Given the description of an element on the screen output the (x, y) to click on. 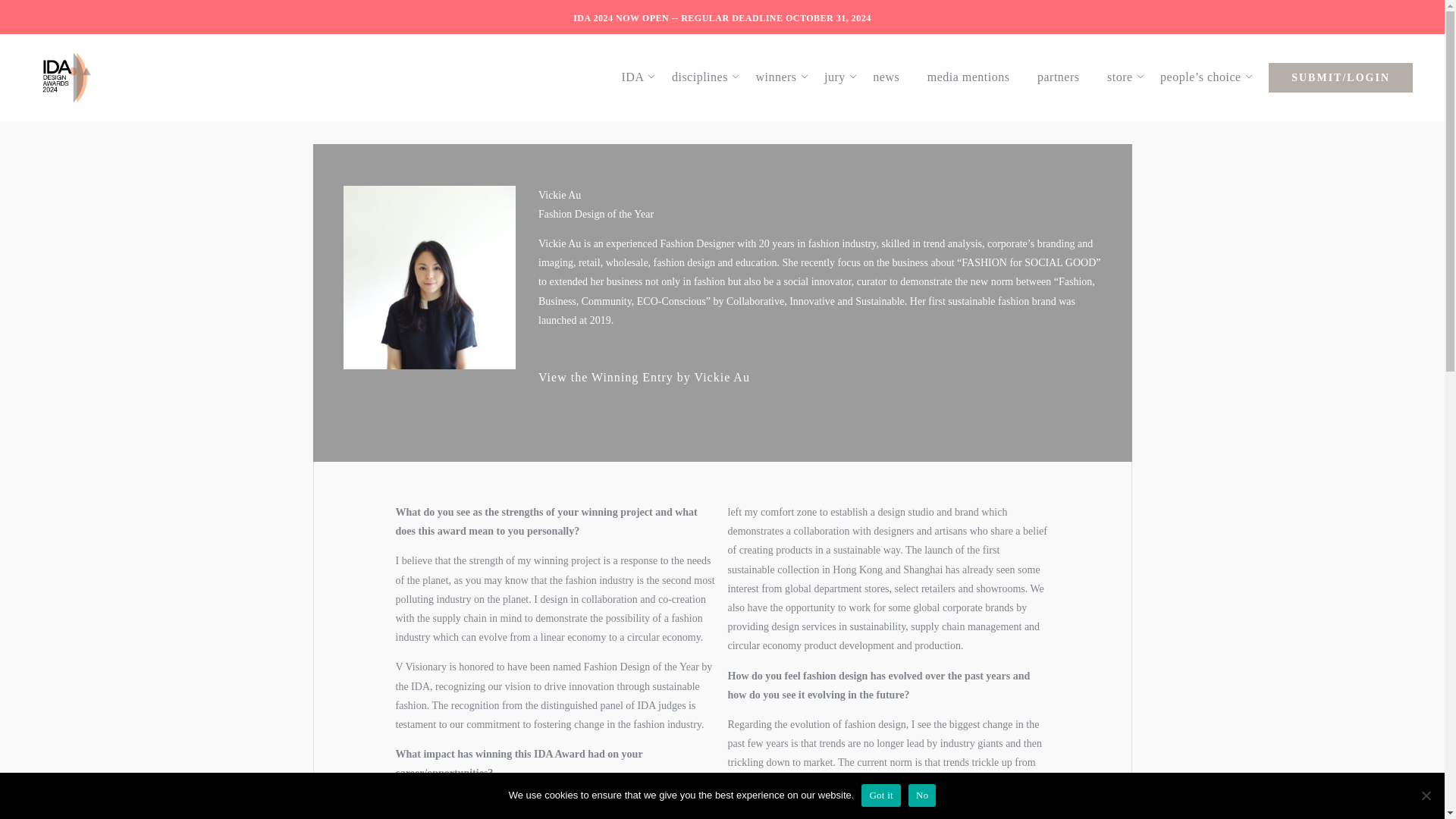
media mentions (976, 76)
disciplines (706, 76)
IDA (640, 76)
No (1425, 795)
winners (782, 76)
news (893, 76)
store (1127, 76)
partners (1065, 76)
IDA International Design Awards 2023 Logo (66, 77)
jury (842, 76)
